Given the description of an element on the screen output the (x, y) to click on. 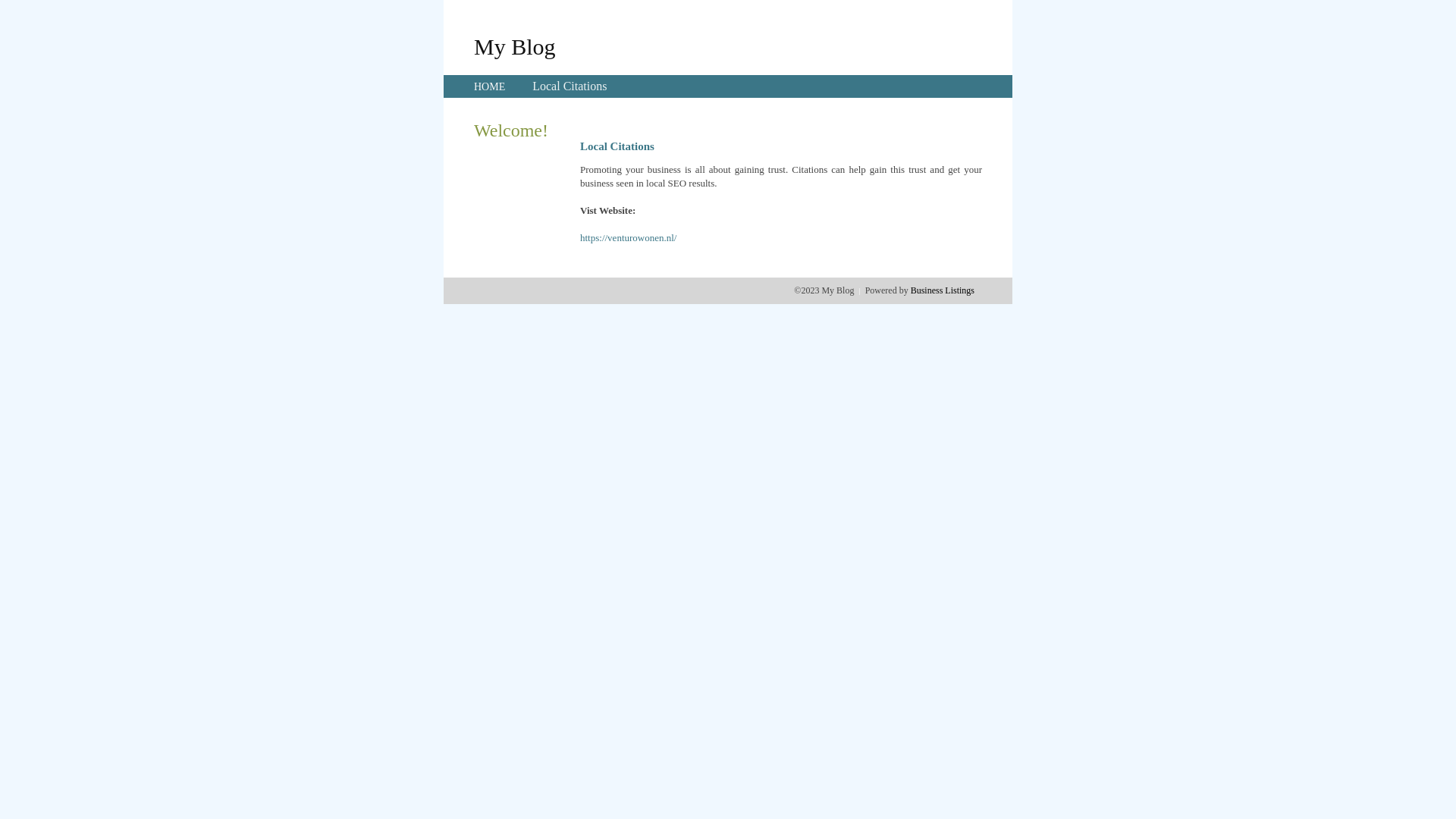
https://venturowonen.nl/ Element type: text (628, 237)
Local Citations Element type: text (569, 85)
Business Listings Element type: text (942, 290)
HOME Element type: text (489, 86)
My Blog Element type: text (514, 46)
